Given the description of an element on the screen output the (x, y) to click on. 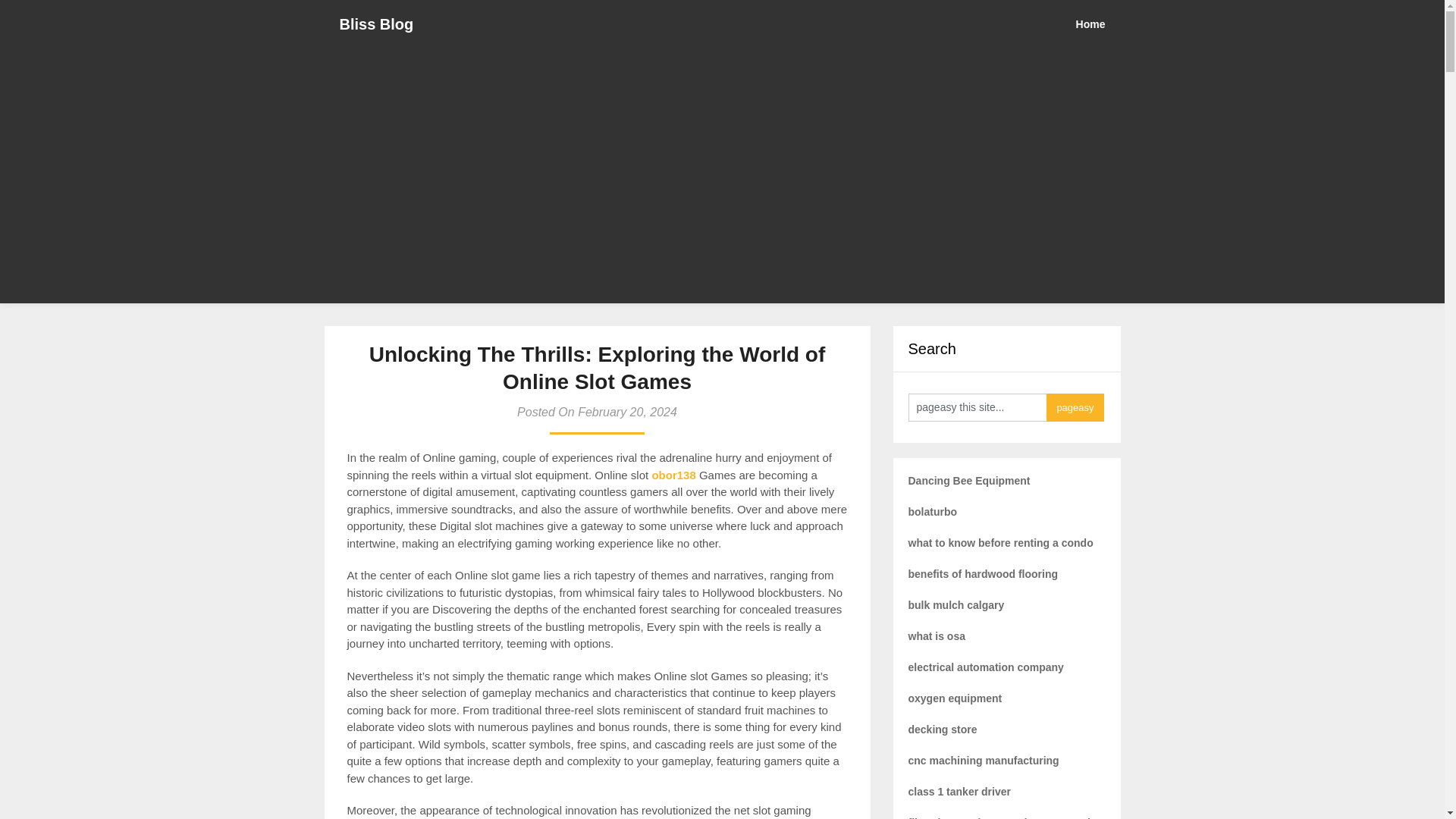
Dancing Bee Equipment (969, 480)
decking store (942, 729)
what is osa (936, 635)
bolaturbo (933, 511)
cnc machining manufacturing (983, 760)
pageasy this site... (977, 407)
pageasy (1075, 407)
Bliss Blog (376, 24)
what to know before renting a condo (1000, 542)
electrical automation company (986, 666)
fiberglass underground storage tanks (1003, 817)
bulk mulch calgary (956, 604)
Home (1098, 24)
obor138 (672, 474)
benefits of hardwood flooring (983, 573)
